Given the description of an element on the screen output the (x, y) to click on. 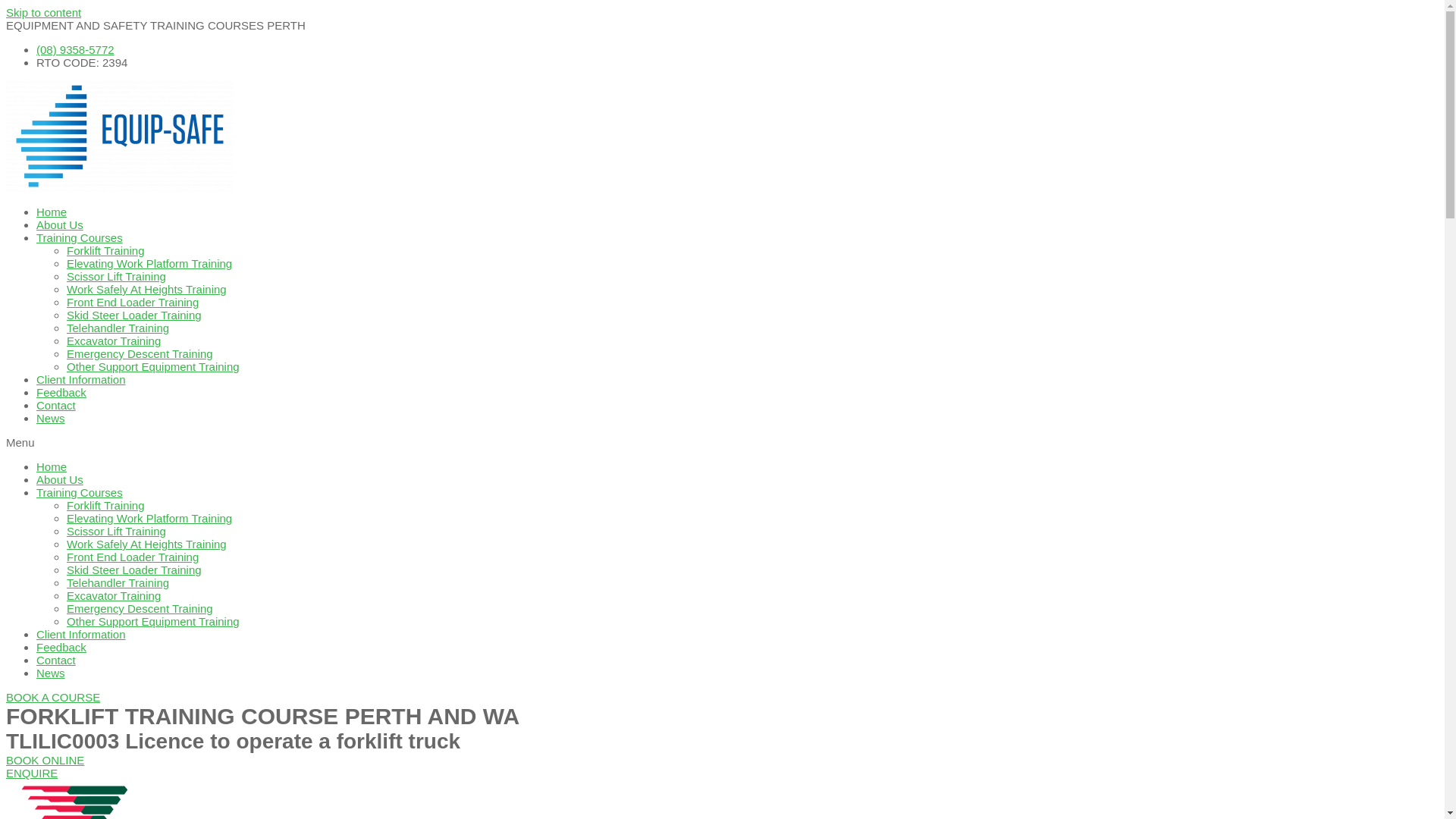
Telehandler Training Element type: text (117, 327)
Client Information Element type: text (80, 379)
Home Element type: text (51, 211)
Client Information Element type: text (80, 633)
Work Safely At Heights Training Element type: text (146, 543)
Feedback Element type: text (61, 391)
News Element type: text (50, 417)
Excavator Training Element type: text (113, 595)
Feedback Element type: text (61, 646)
Elevating Work Platform Training Element type: text (149, 263)
News Element type: text (50, 672)
Training Courses Element type: text (79, 237)
About Us Element type: text (59, 479)
Contact Element type: text (55, 659)
Work Safely At Heights Training Element type: text (146, 288)
Other Support Equipment Training Element type: text (152, 621)
Other Support Equipment Training Element type: text (152, 366)
Elevating Work Platform Training Element type: text (149, 517)
ENQUIRE Element type: text (31, 772)
About Us Element type: text (59, 224)
BOOK A COURSE Element type: text (53, 696)
Emergency Descent Training Element type: text (139, 353)
Forklift Training Element type: text (105, 250)
Contact Element type: text (55, 404)
Skid Steer Loader Training Element type: text (133, 569)
Scissor Lift Training Element type: text (116, 275)
Forklift Training Element type: text (105, 504)
Telehandler Training Element type: text (117, 582)
Excavator Training Element type: text (113, 340)
Front End Loader Training Element type: text (132, 556)
Training Courses Element type: text (79, 492)
Scissor Lift Training Element type: text (116, 530)
Front End Loader Training Element type: text (132, 301)
Skip to content Element type: text (43, 12)
Home Element type: text (51, 466)
(08) 9358-5772 Element type: text (75, 49)
Skid Steer Loader Training Element type: text (133, 314)
BOOK ONLINE Element type: text (45, 759)
Emergency Descent Training Element type: text (139, 608)
